Given the description of an element on the screen output the (x, y) to click on. 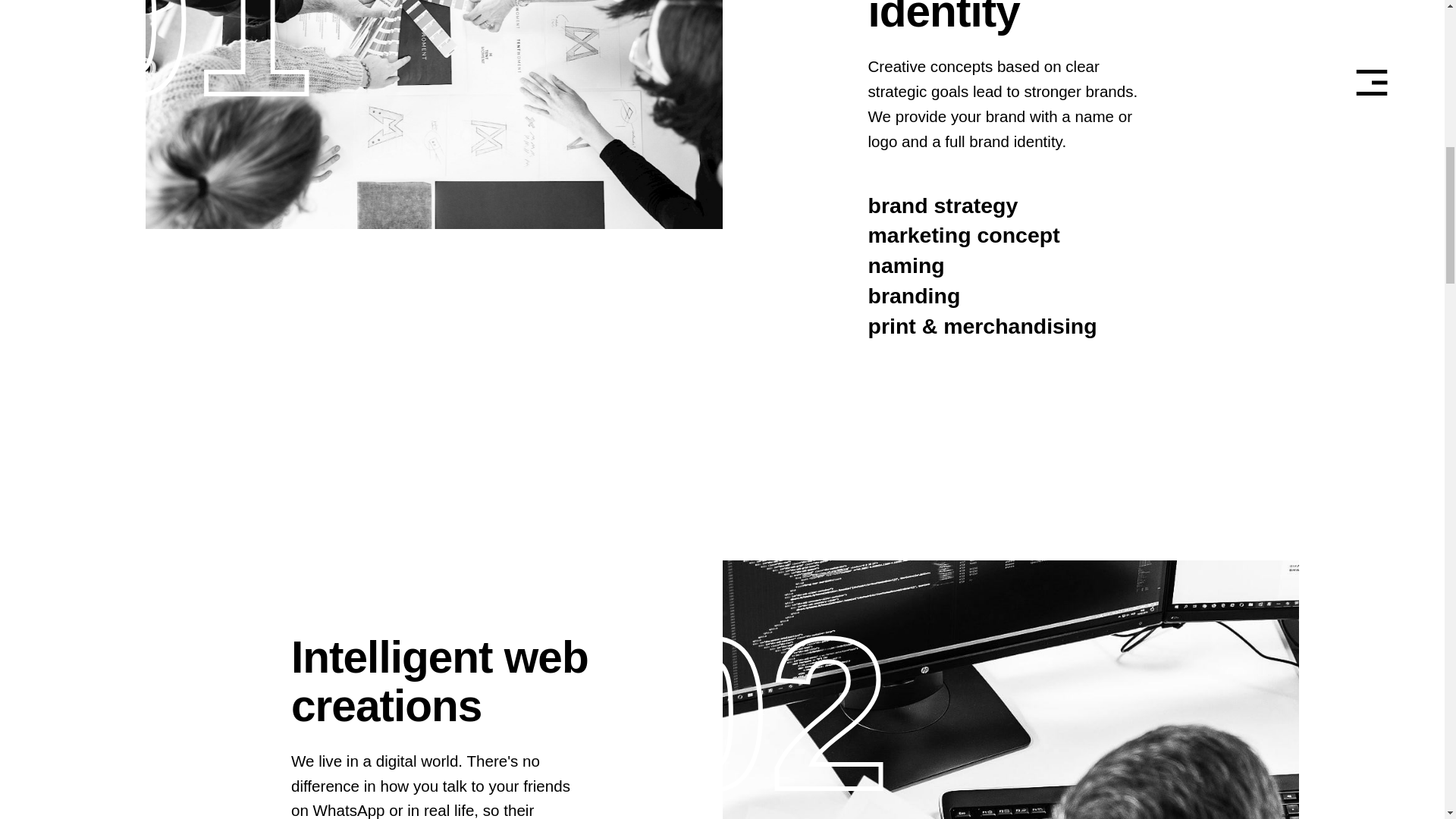
brand strategy (942, 205)
naming (905, 265)
branding (913, 296)
marketing concept (963, 235)
